Given the description of an element on the screen output the (x, y) to click on. 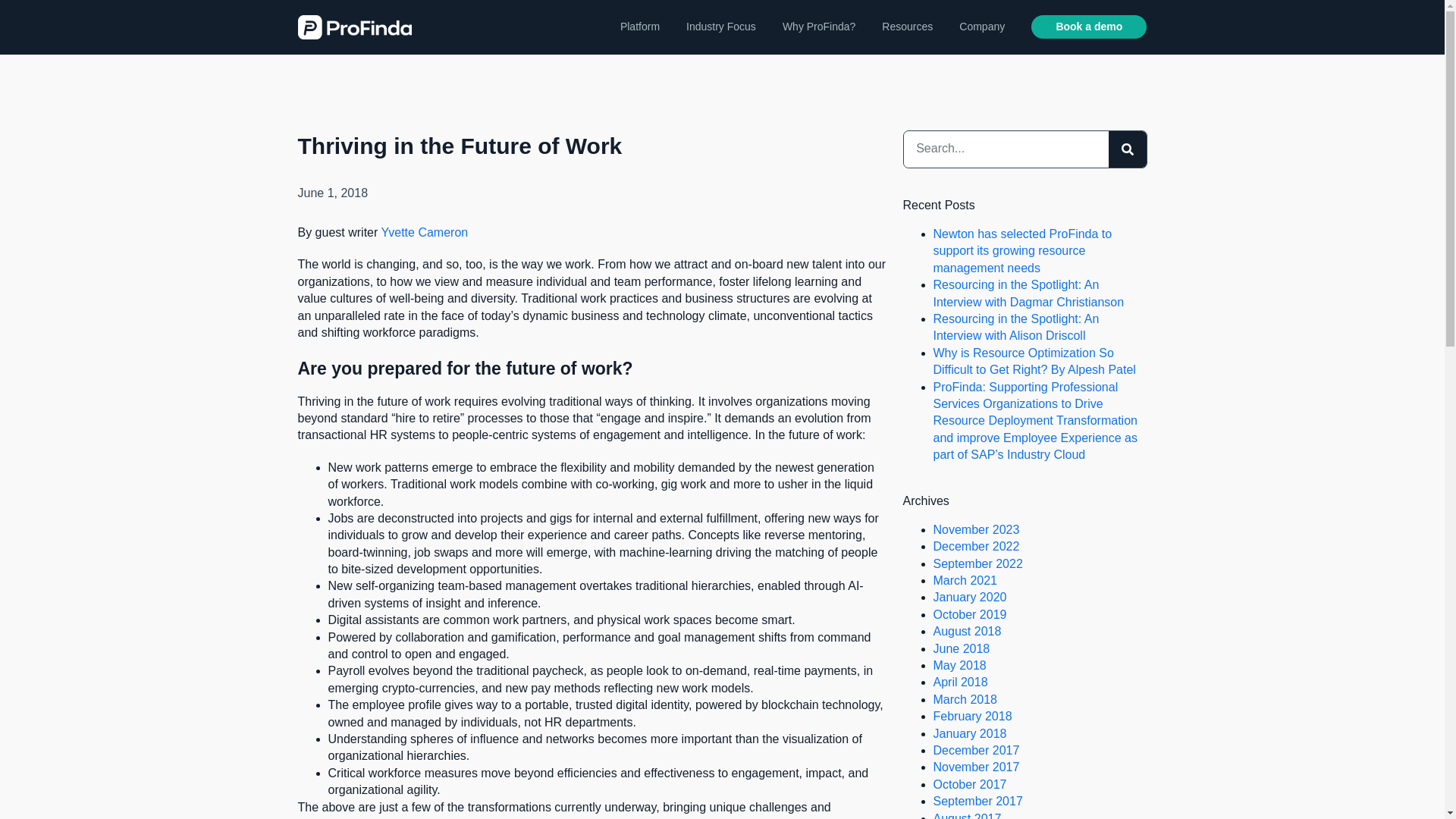
Resources (907, 27)
Platform (639, 27)
Why ProFinda? (819, 27)
Industry Focus (720, 27)
Company (981, 27)
